Given the description of an element on the screen output the (x, y) to click on. 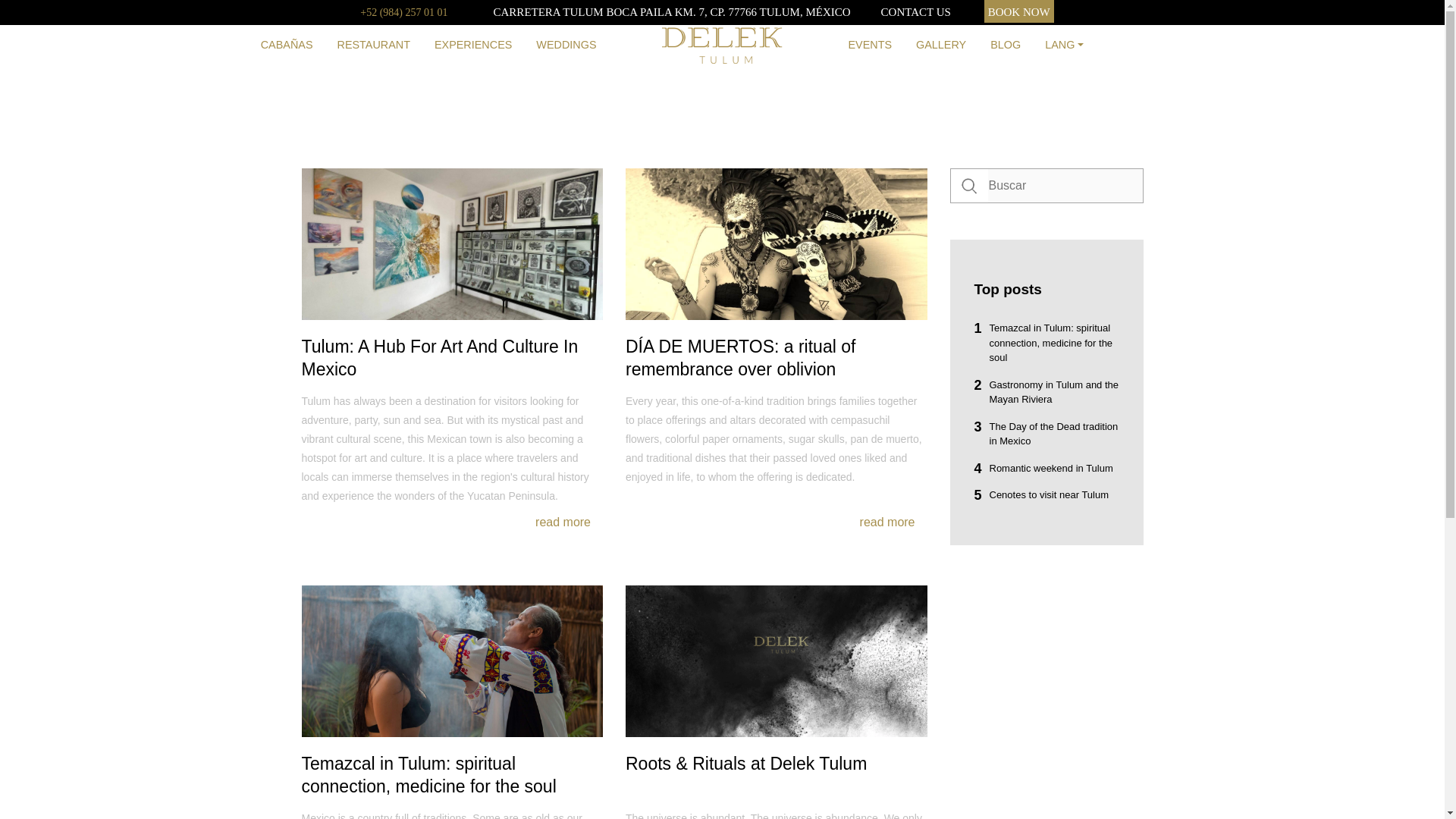
Restaurant (373, 45)
CONTACT US (915, 11)
Gastronomy in Tulum and the Mayan Riviera (1046, 392)
Experiences (473, 45)
GALLERY (941, 45)
Blog (1005, 45)
The Day of the Dead tradition in Mexico (1046, 432)
BOOK NOW (1019, 11)
Weddings (566, 45)
